Given the description of an element on the screen output the (x, y) to click on. 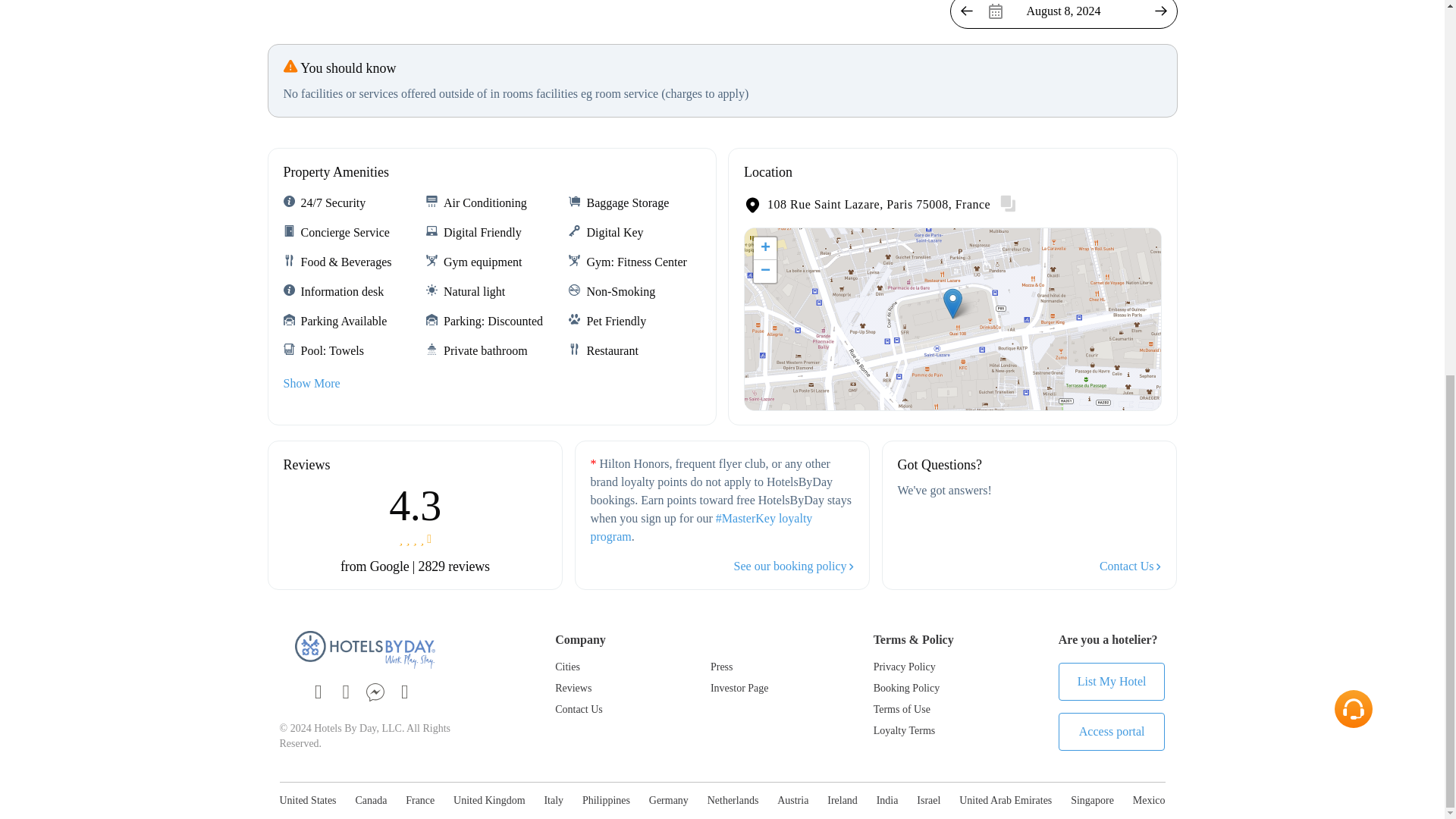
August 8, 2024 (1062, 14)
Calendar (1062, 14)
